Given the description of an element on the screen output the (x, y) to click on. 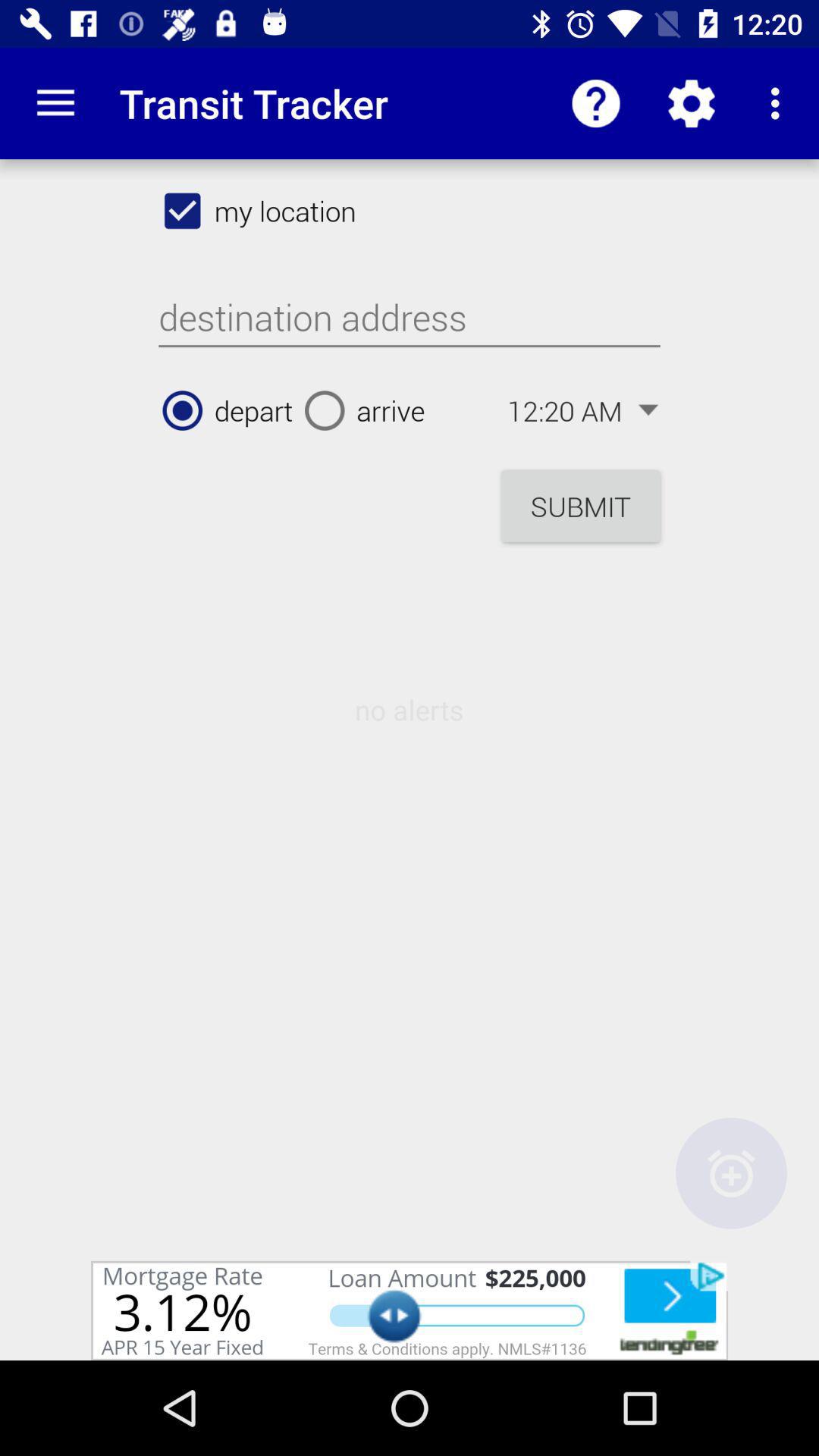
search (409, 317)
